Given the description of an element on the screen output the (x, y) to click on. 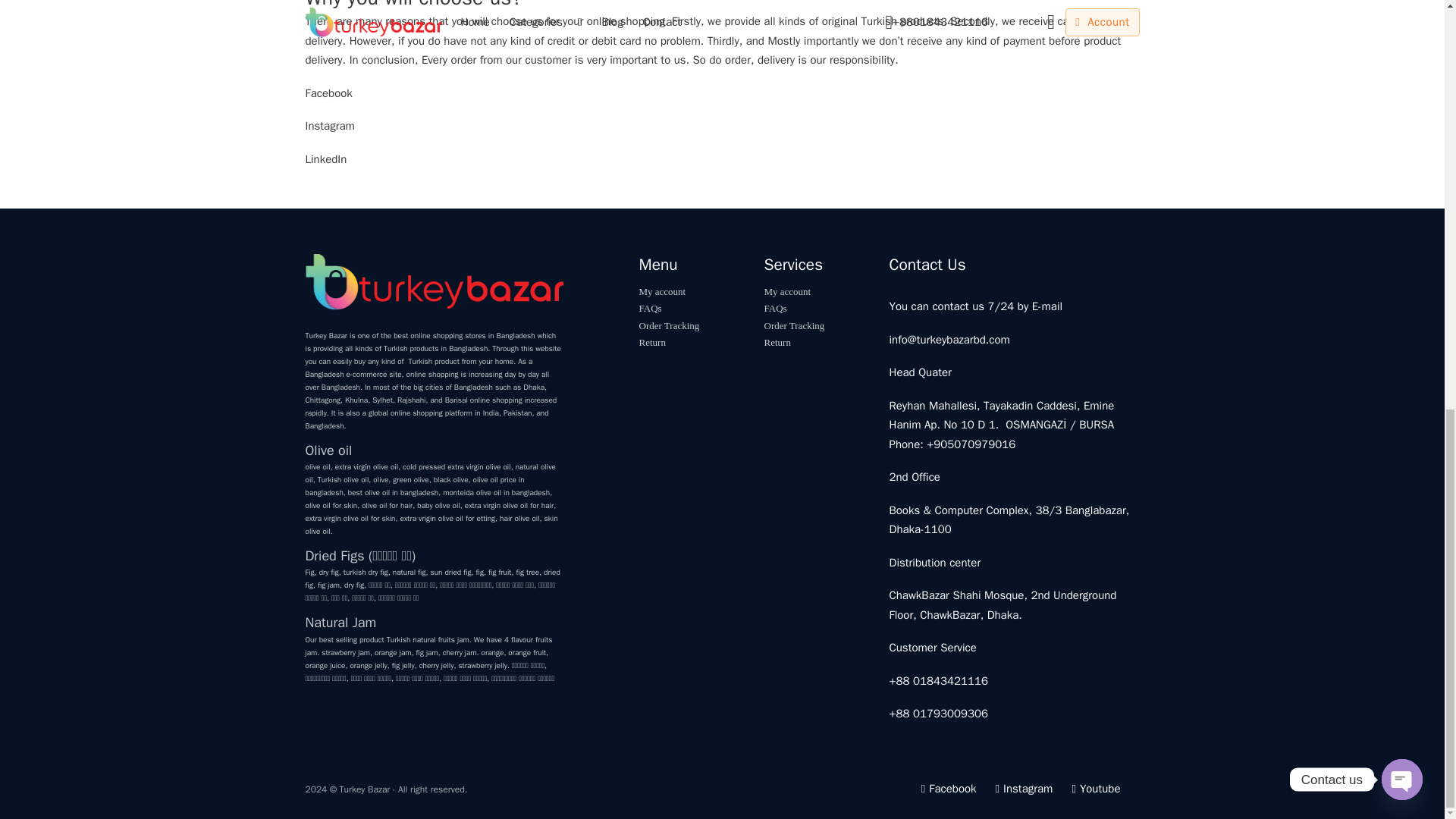
Facebook (328, 92)
Instagram (328, 125)
